Given the description of an element on the screen output the (x, y) to click on. 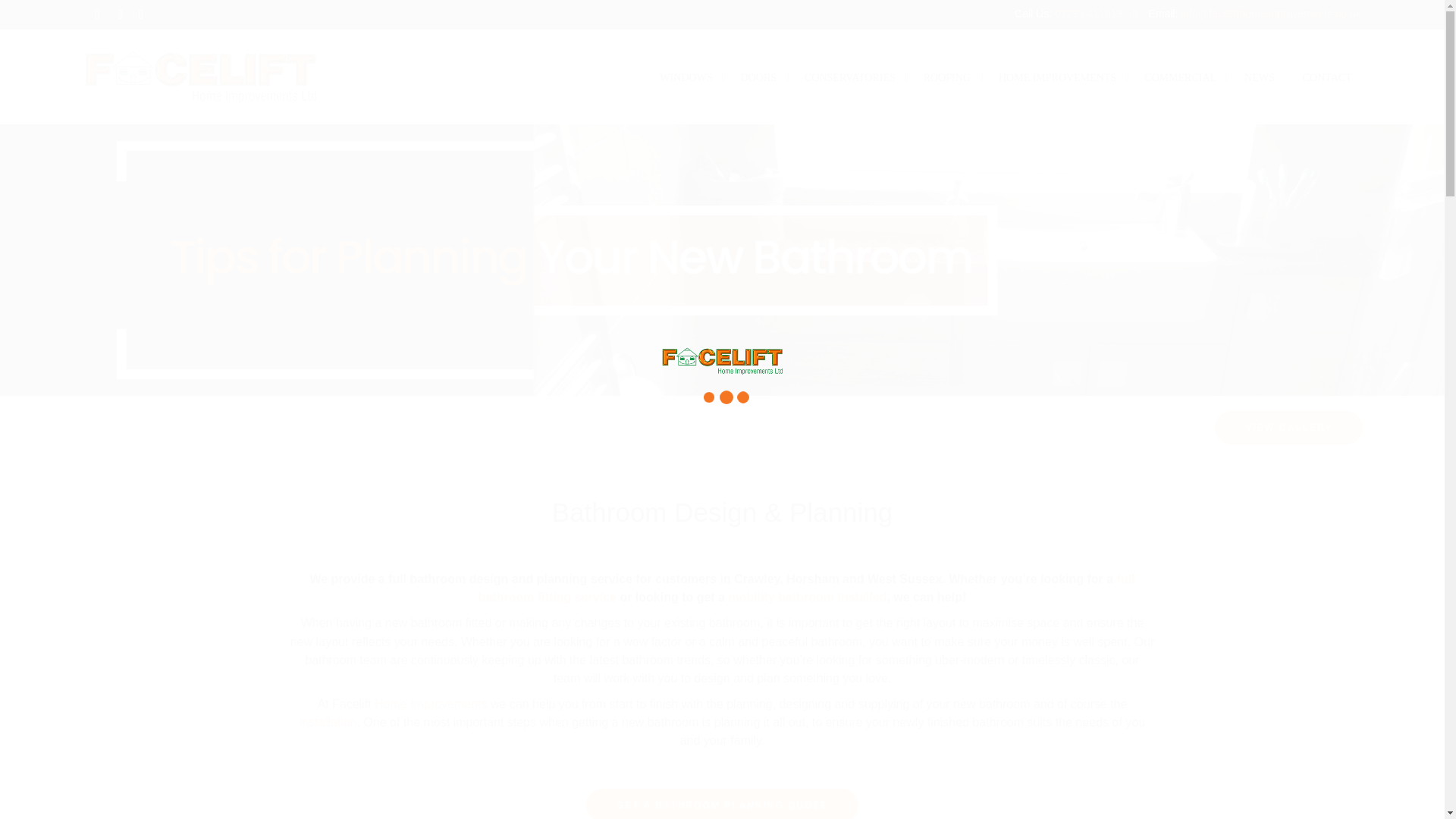
ROOFING (946, 76)
Conservatories (849, 76)
HOME IMPROVEMENTS (1057, 76)
WINDOWS (685, 76)
Windows (685, 76)
CONSERVATORIES (849, 76)
01293 411819 (1088, 13)
